Given the description of an element on the screen output the (x, y) to click on. 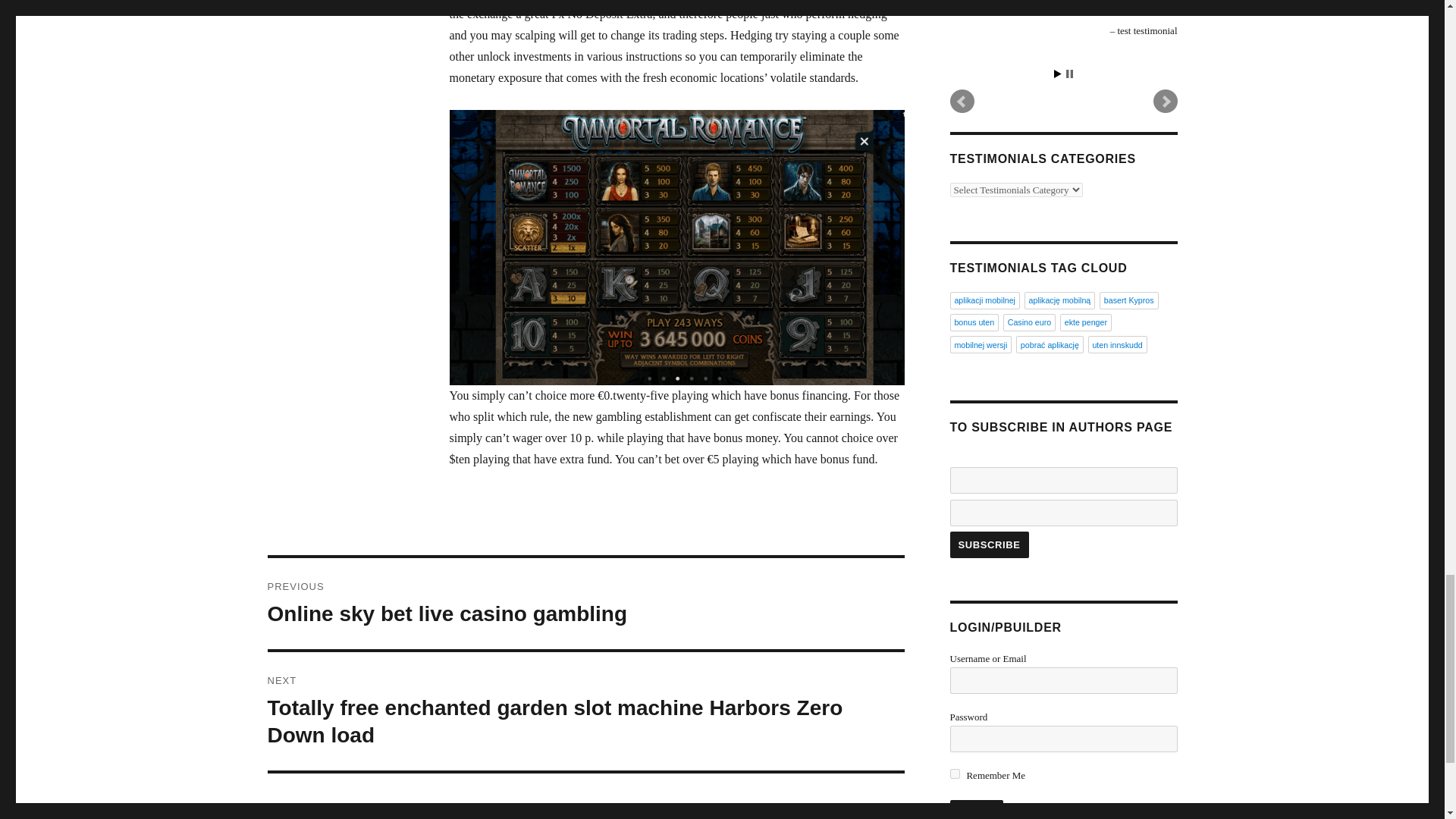
Log In (585, 603)
Subscribe (976, 809)
forever (988, 544)
